Given the description of an element on the screen output the (x, y) to click on. 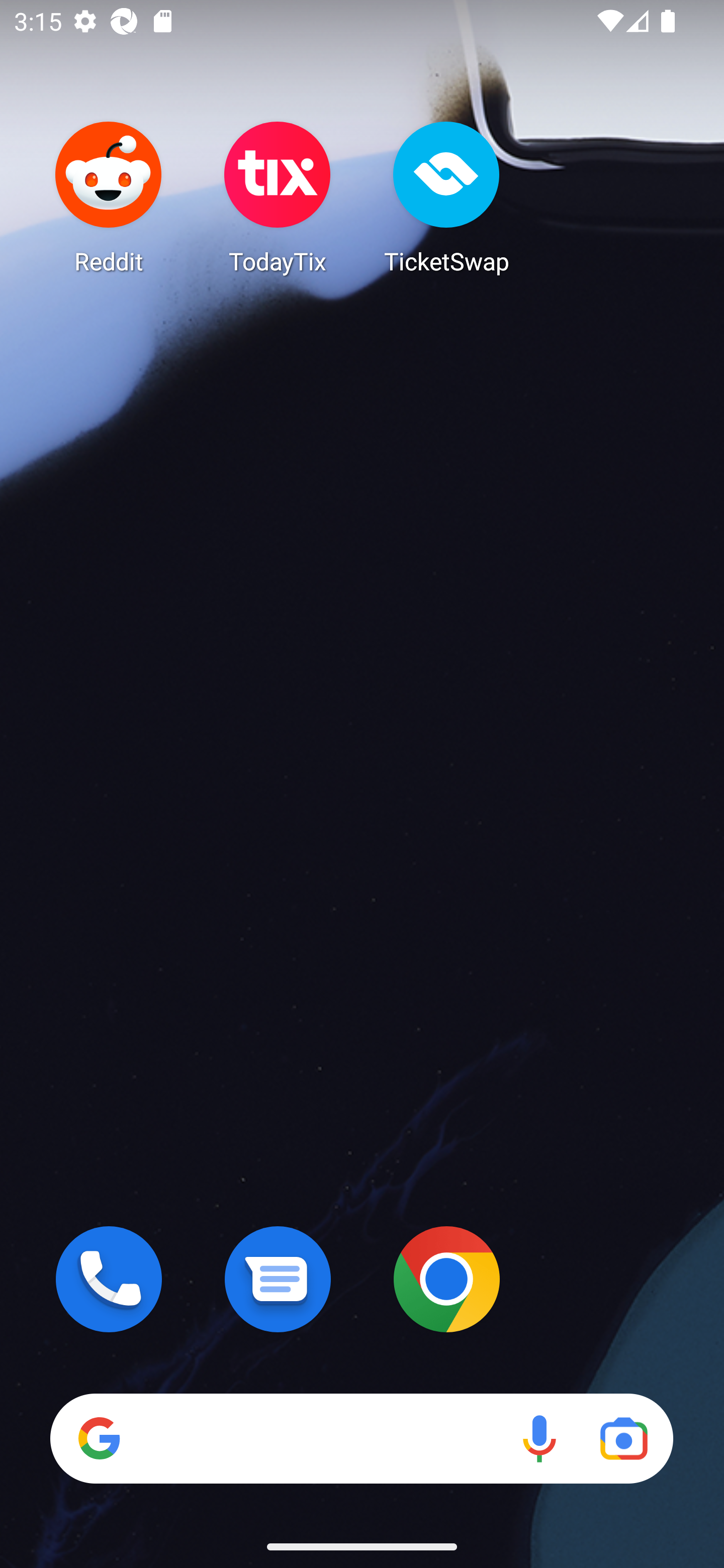
Reddit (108, 196)
TodayTix (277, 196)
TicketSwap (445, 196)
Phone (108, 1279)
Messages (277, 1279)
Chrome (446, 1279)
Voice search (539, 1438)
Google Lens (623, 1438)
